Given the description of an element on the screen output the (x, y) to click on. 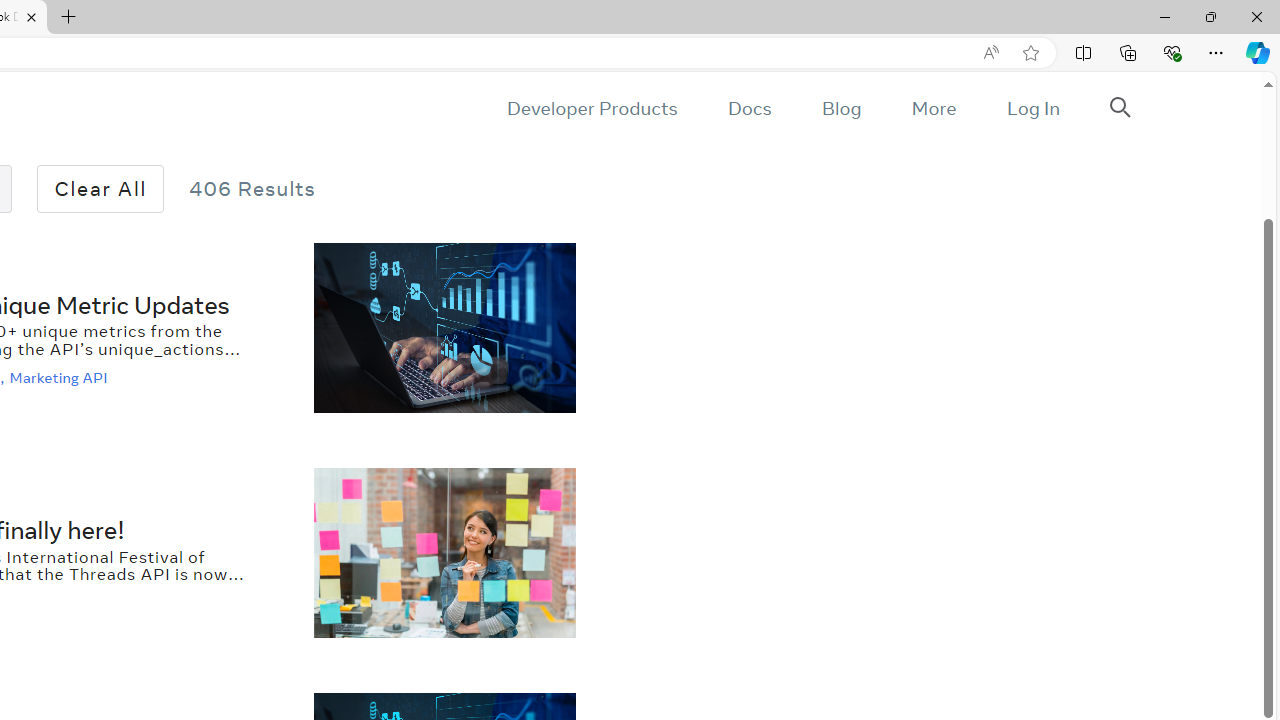
Add this page to favorites (Ctrl+D) (1030, 53)
Close (1256, 16)
More (933, 108)
Restore (1210, 16)
Developer Products (591, 108)
Collections (1128, 52)
Docs (749, 108)
Close tab (31, 16)
